Given the description of an element on the screen output the (x, y) to click on. 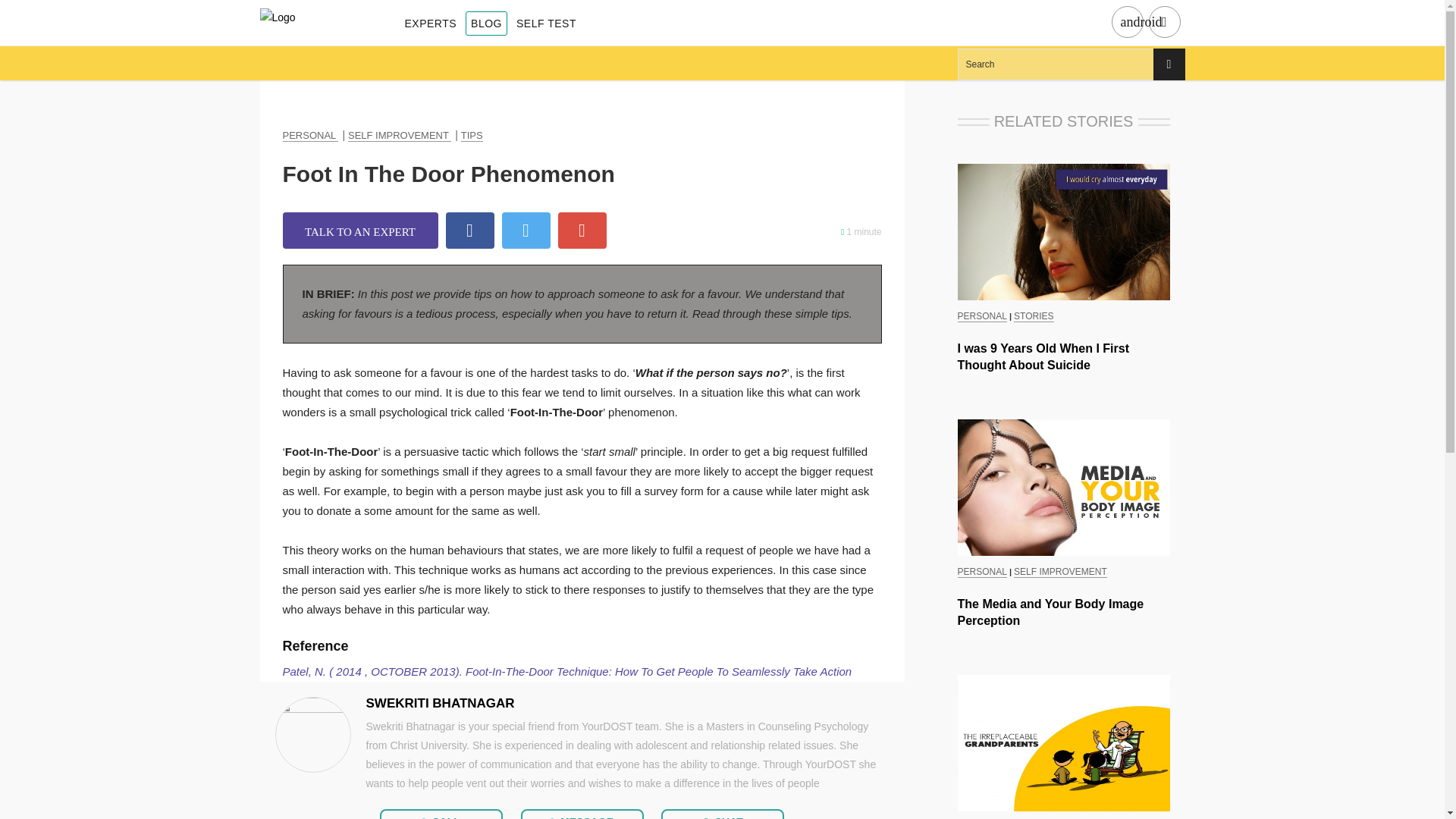
BLOG (485, 23)
Get it on App Store (1163, 22)
PERSONAL (309, 135)
SELF IMPROVEMENT (399, 135)
android (1127, 22)
Search (1070, 64)
Search (1070, 64)
Get it on Play Store (1141, 21)
Get it on Play Store (1127, 22)
SELF TEST (546, 23)
EXPERTS (430, 23)
TIPS (472, 135)
